Given the description of an element on the screen output the (x, y) to click on. 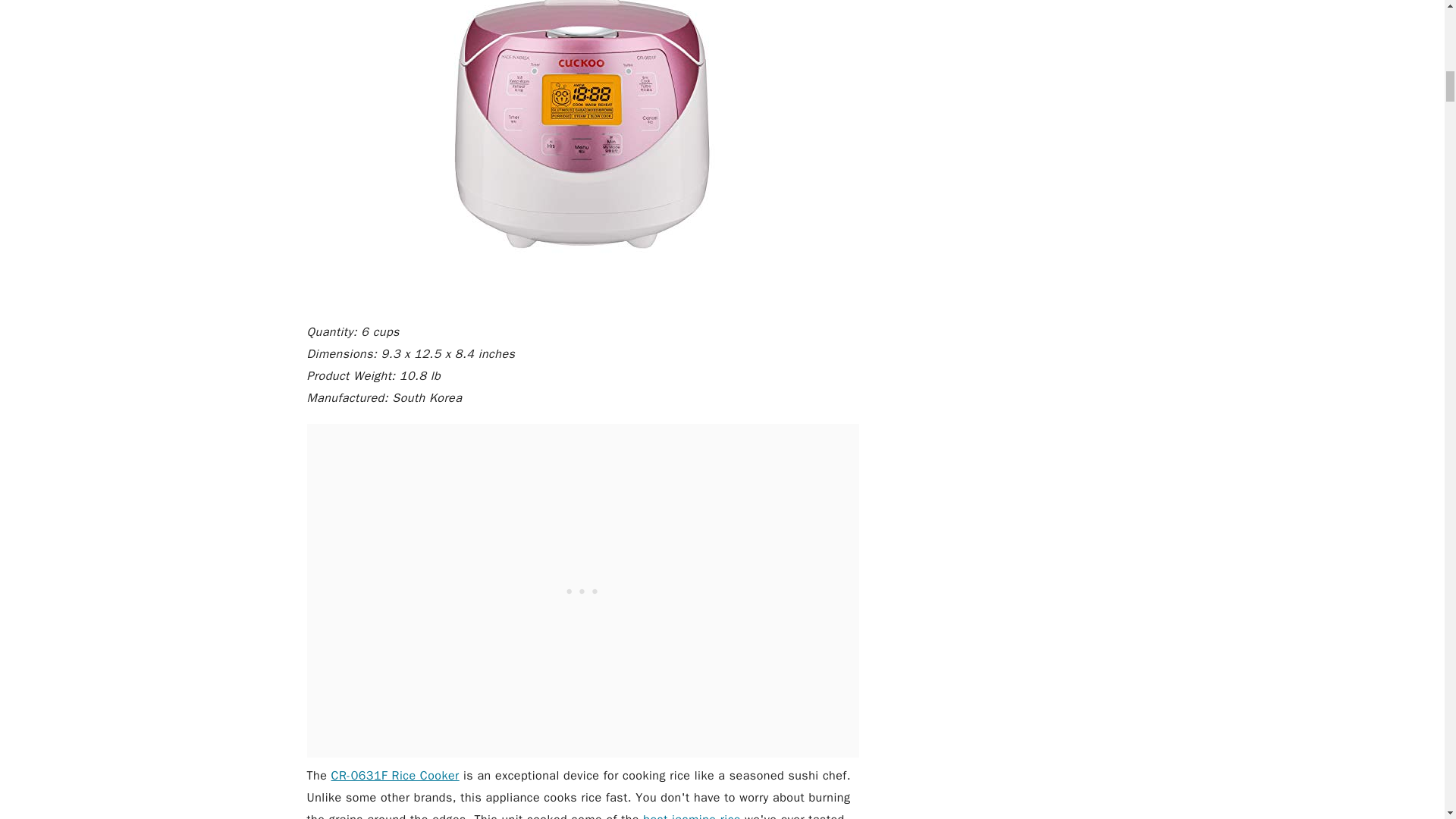
CR-0631F Rice Cooker (395, 775)
